Given the description of an element on the screen output the (x, y) to click on. 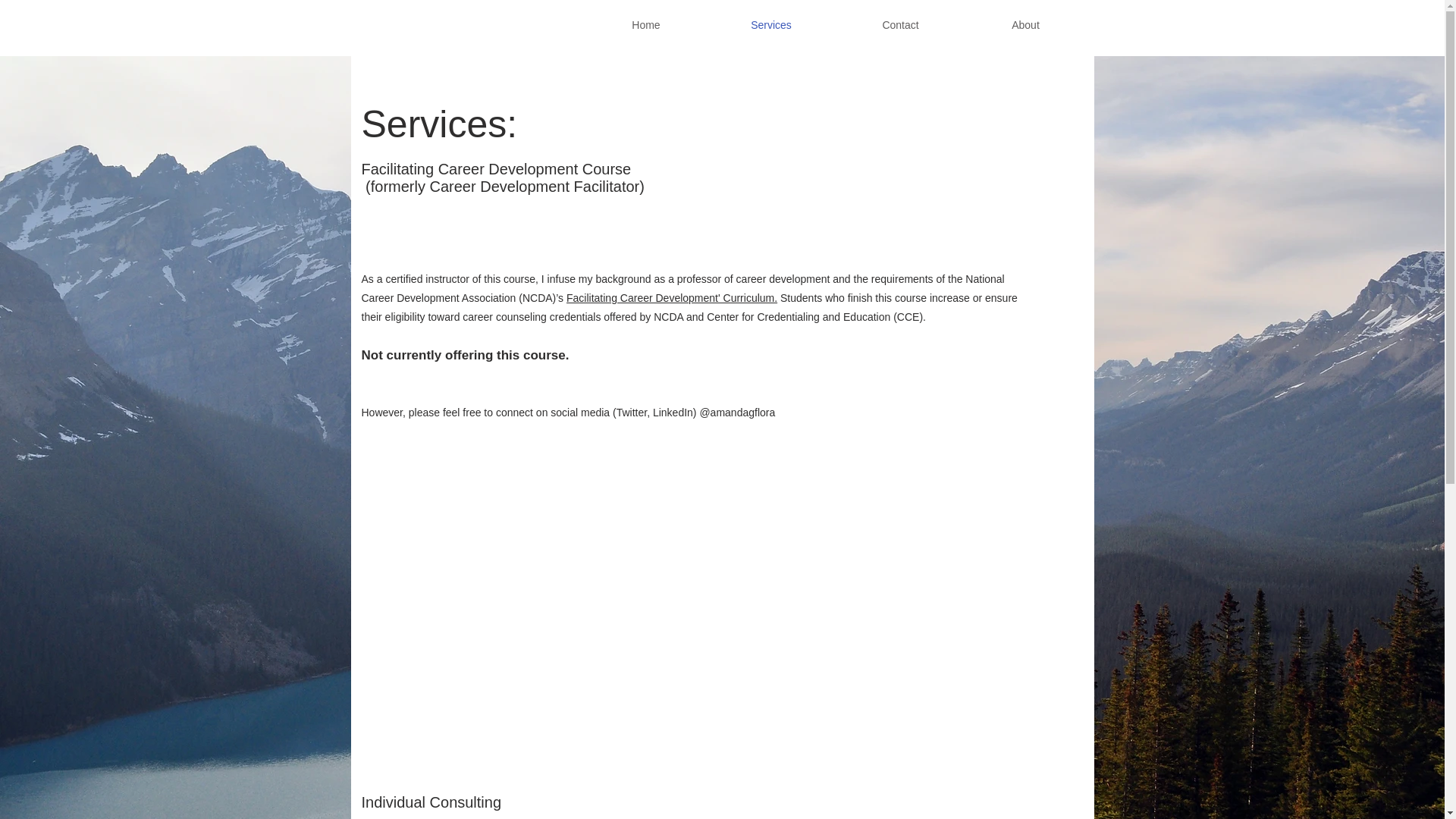
About (1024, 25)
Services (770, 25)
Facilitating Career Development' Curriculum. (671, 297)
Contact (899, 25)
Home (645, 25)
